Given the description of an element on the screen output the (x, y) to click on. 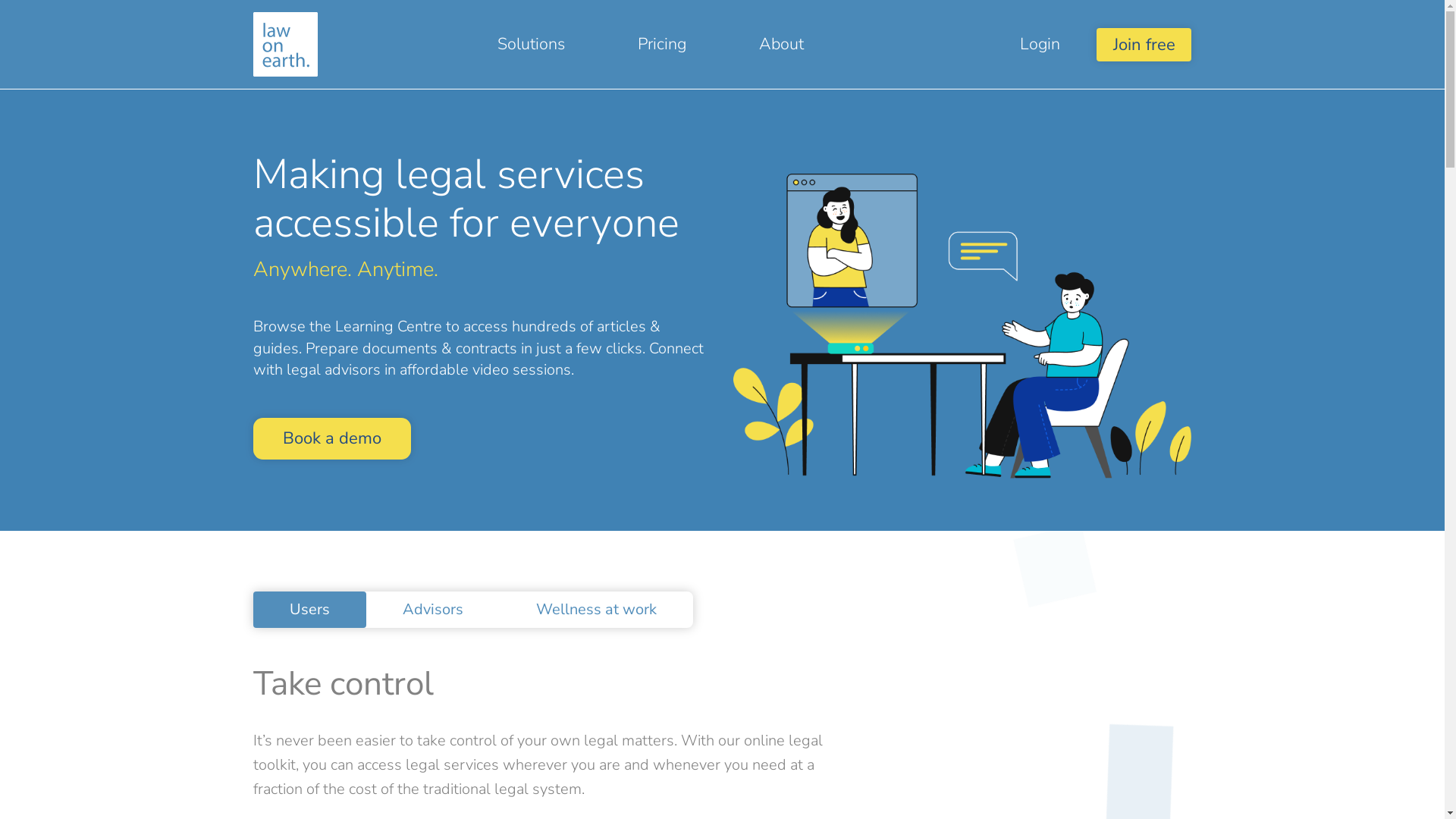
About Element type: text (781, 43)
Wellness at work Element type: text (596, 609)
Advisors Element type: text (432, 609)
Pricing Element type: text (661, 43)
Solutions Element type: text (531, 43)
Join free Element type: text (1143, 44)
Login Element type: text (1039, 43)
Users Element type: text (309, 609)
Book a demo Element type: text (332, 438)
